Given the description of an element on the screen output the (x, y) to click on. 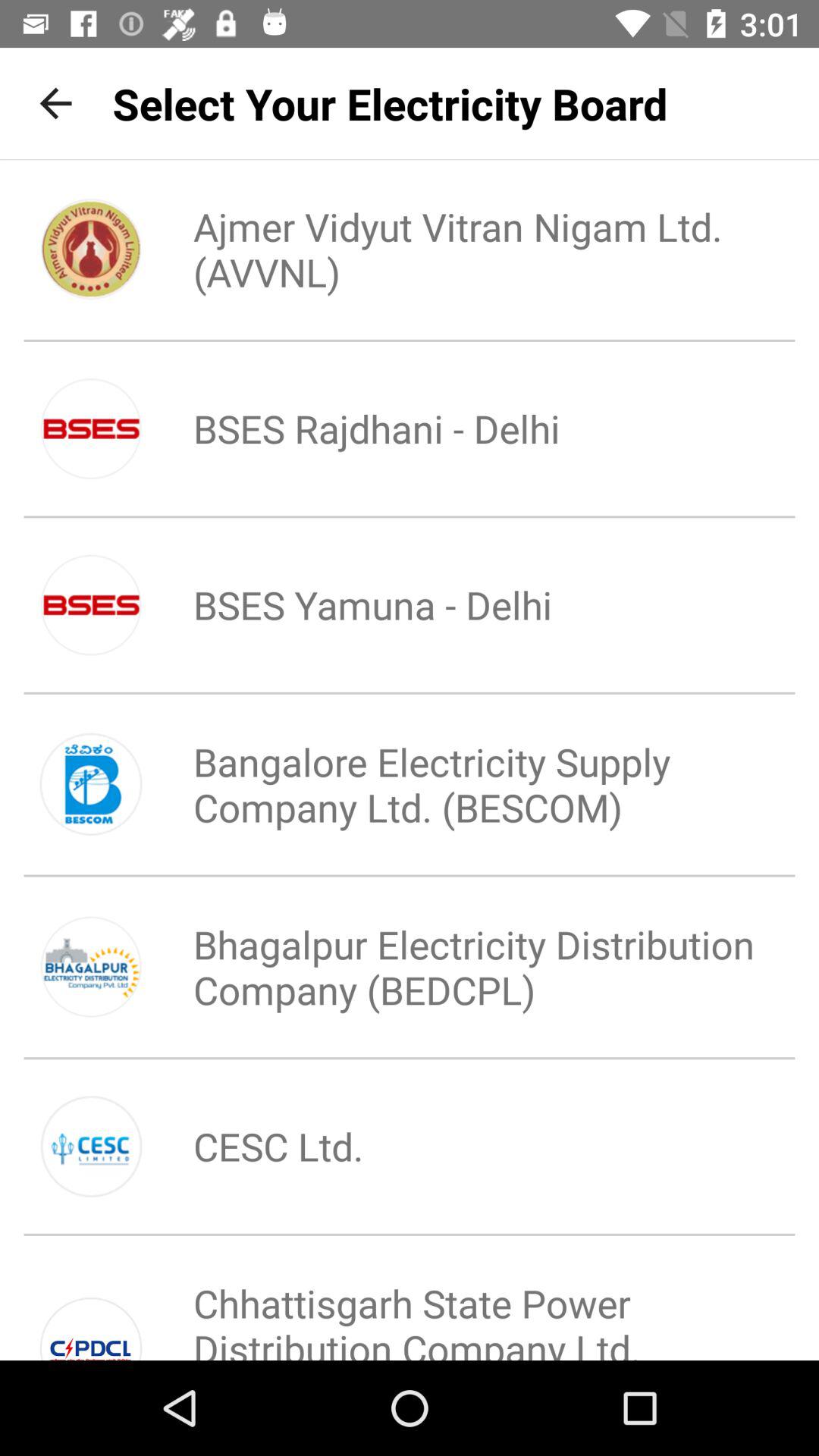
flip until the ajmer vidyut vitran item (460, 249)
